Given the description of an element on the screen output the (x, y) to click on. 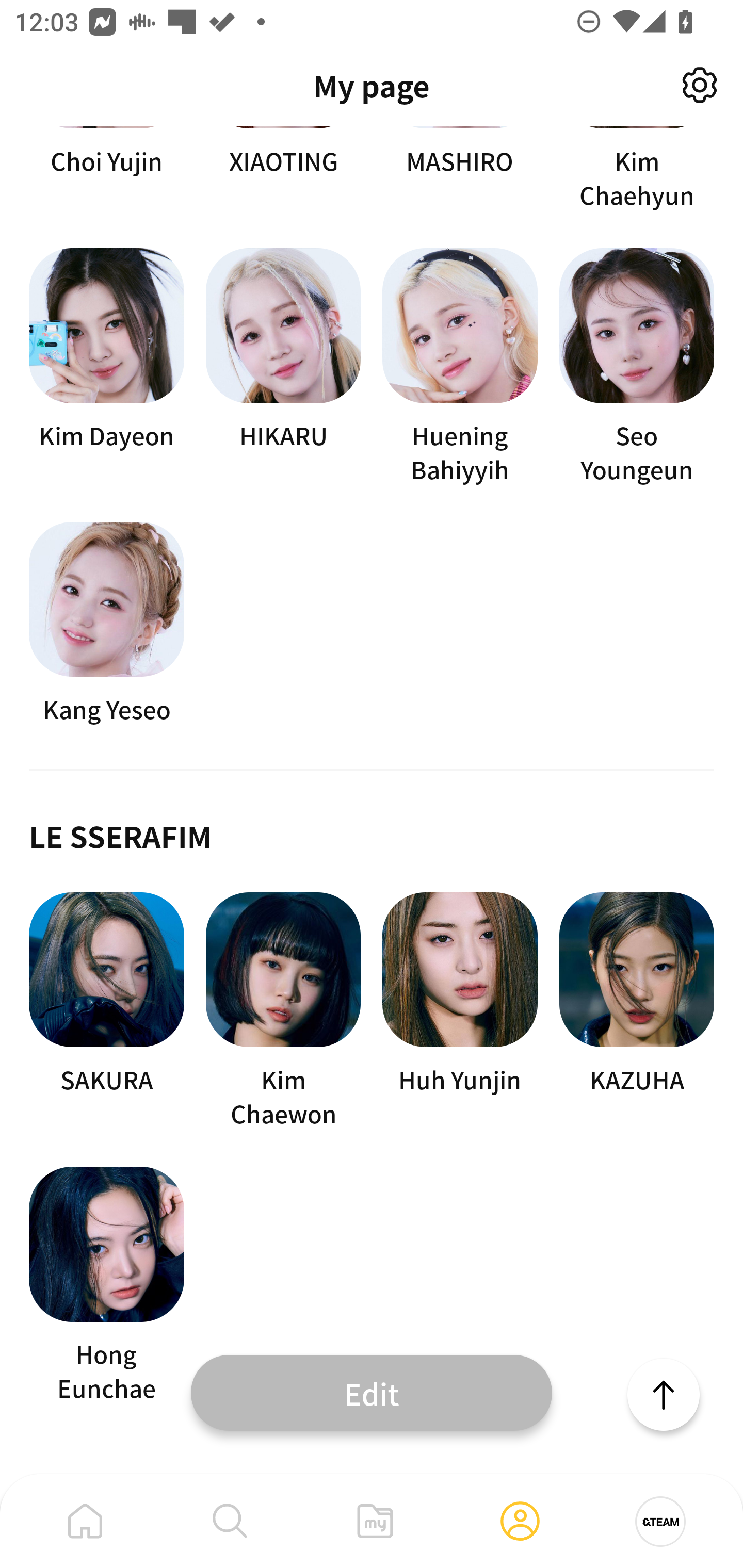
Choi Yujin (106, 169)
XIAOTING (282, 169)
MASHIRO (459, 169)
Kim Chaehyun (636, 169)
Kim Dayeon (106, 366)
HIKARU (282, 366)
Huening Bahiyyih (459, 366)
Seo Youngeun (636, 366)
Kang Yeseo (106, 623)
SAKURA (106, 1011)
Kim Chaewon (282, 1011)
Huh Yunjin (459, 1011)
KAZUHA (636, 1011)
Hong Eunchae (106, 1285)
Edit (371, 1392)
